Given the description of an element on the screen output the (x, y) to click on. 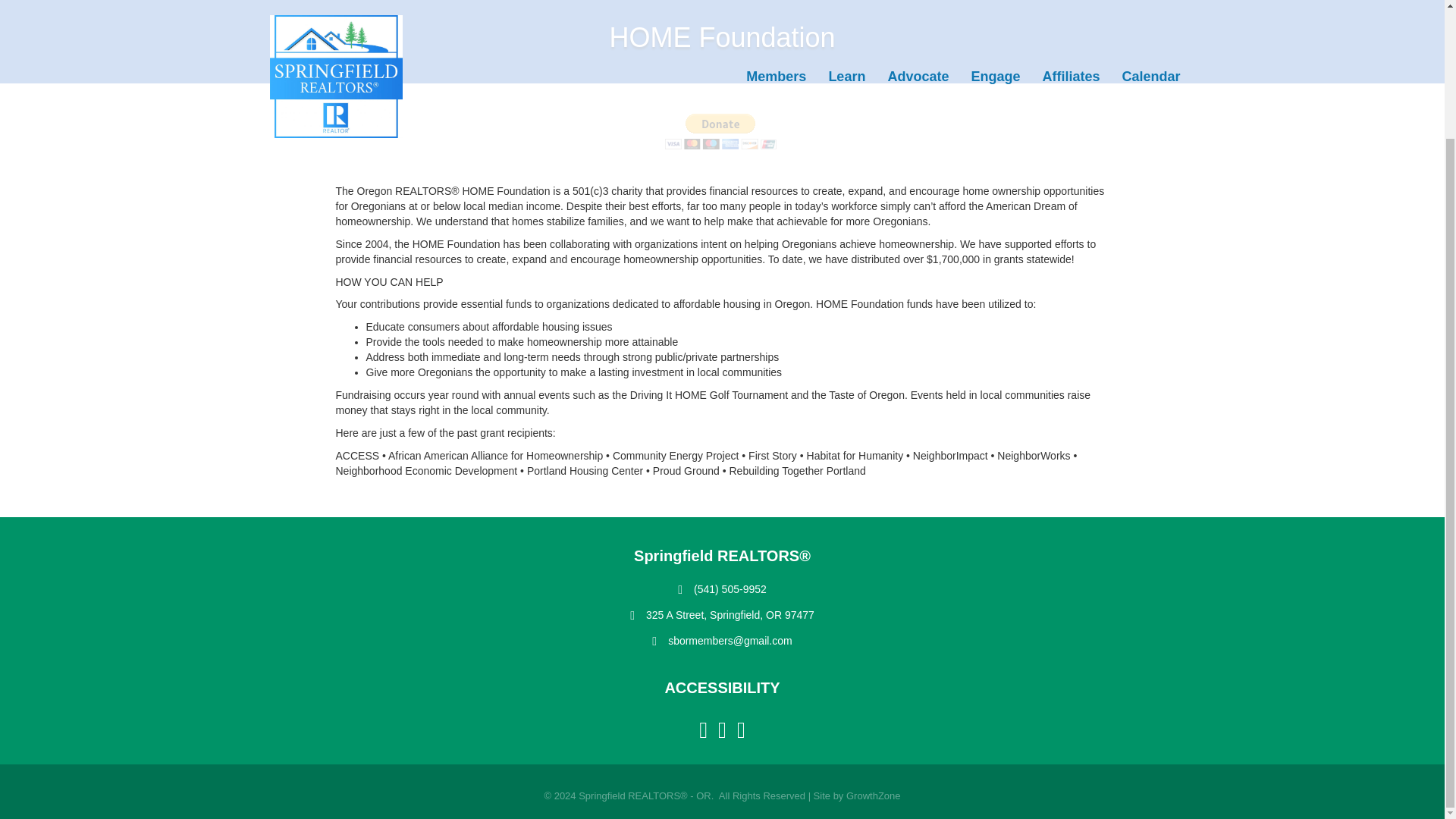
ACCESSIBILITY (720, 687)
PayPal - The safer, easier way to pay online! (720, 131)
